Given the description of an element on the screen output the (x, y) to click on. 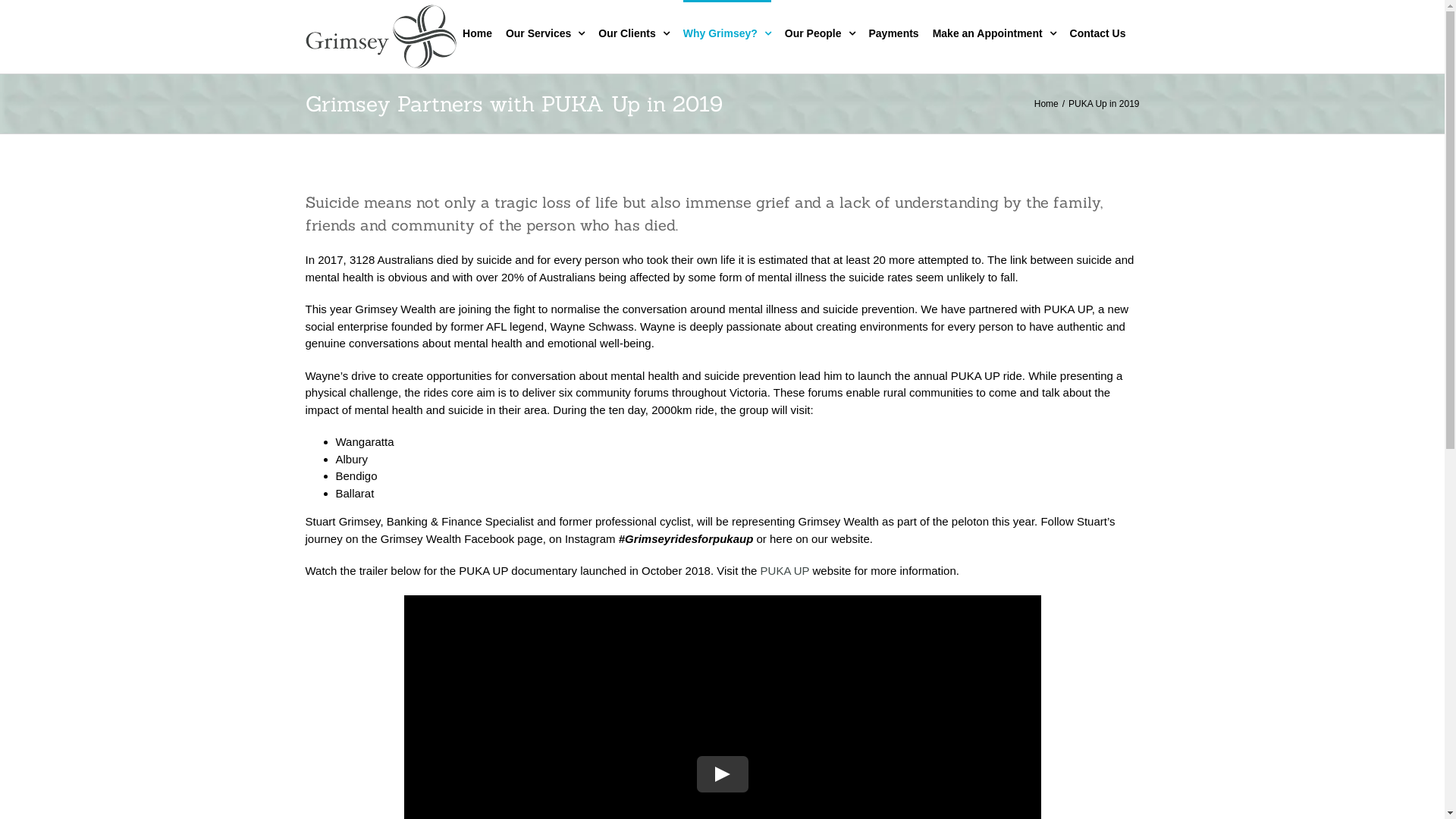
Payments Element type: text (894, 31)
Our People Element type: text (819, 31)
Contact Us Element type: text (1098, 31)
Play Element type: text (721, 774)
PUKA UP Element type: text (784, 570)
Why Grimsey? Element type: text (727, 31)
Our Clients Element type: text (633, 31)
Home Element type: text (477, 31)
Make an Appointment Element type: text (994, 31)
Our Services Element type: text (544, 31)
Home Element type: text (1046, 103)
